Given the description of an element on the screen output the (x, y) to click on. 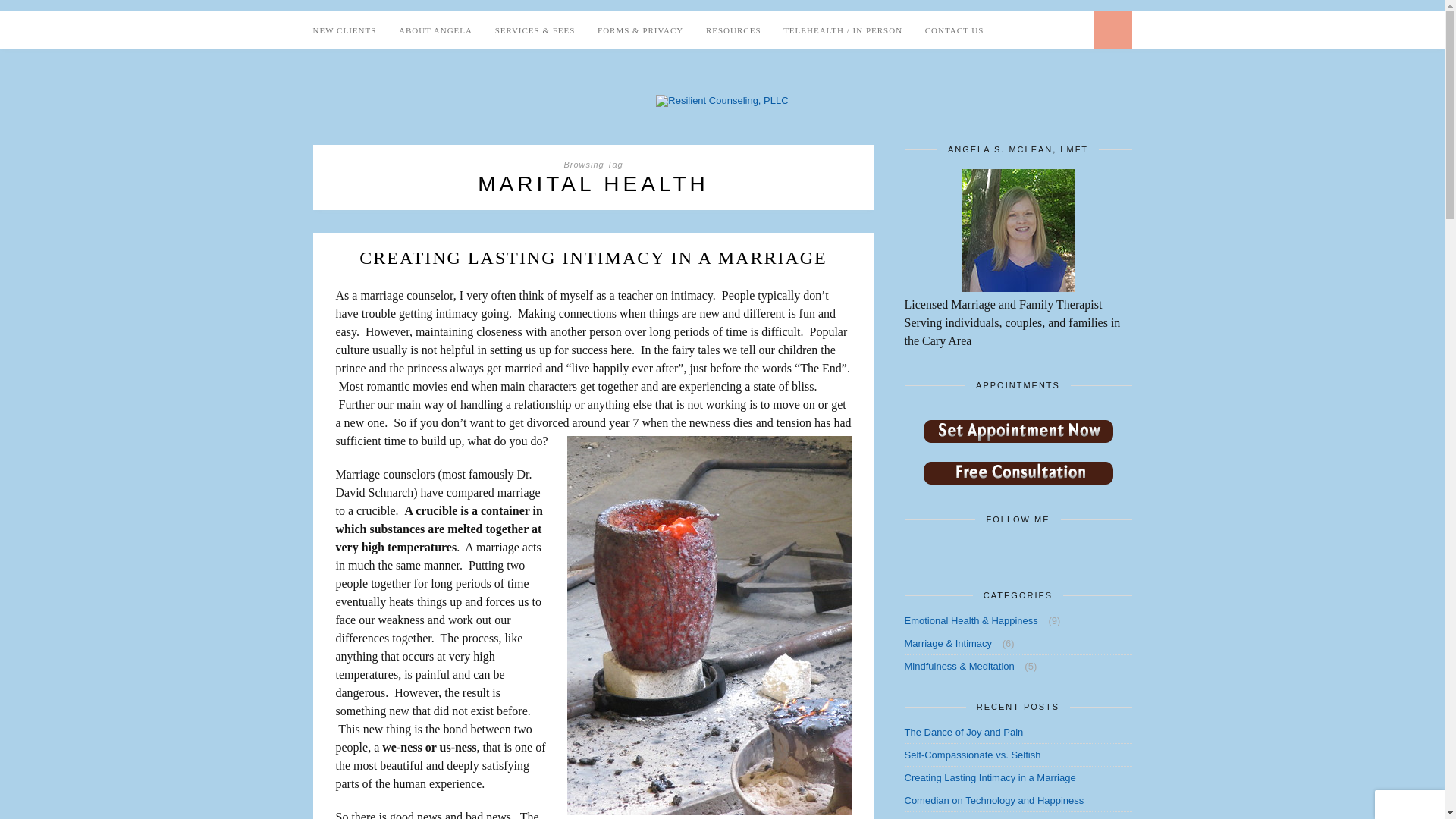
The Dance of Joy and Pain (963, 731)
Comedian on Technology and Happiness (993, 799)
The Guest House (942, 818)
NEW CLIENTS (344, 30)
CREATING LASTING INTIMACY IN A MARRIAGE (593, 257)
Self-Compassionate vs. Selfish (972, 754)
CONTACT US (954, 30)
ABOUT ANGELA (434, 30)
Creating Lasting Intimacy in a Marriage (989, 777)
RESOURCES (733, 30)
